Given the description of an element on the screen output the (x, y) to click on. 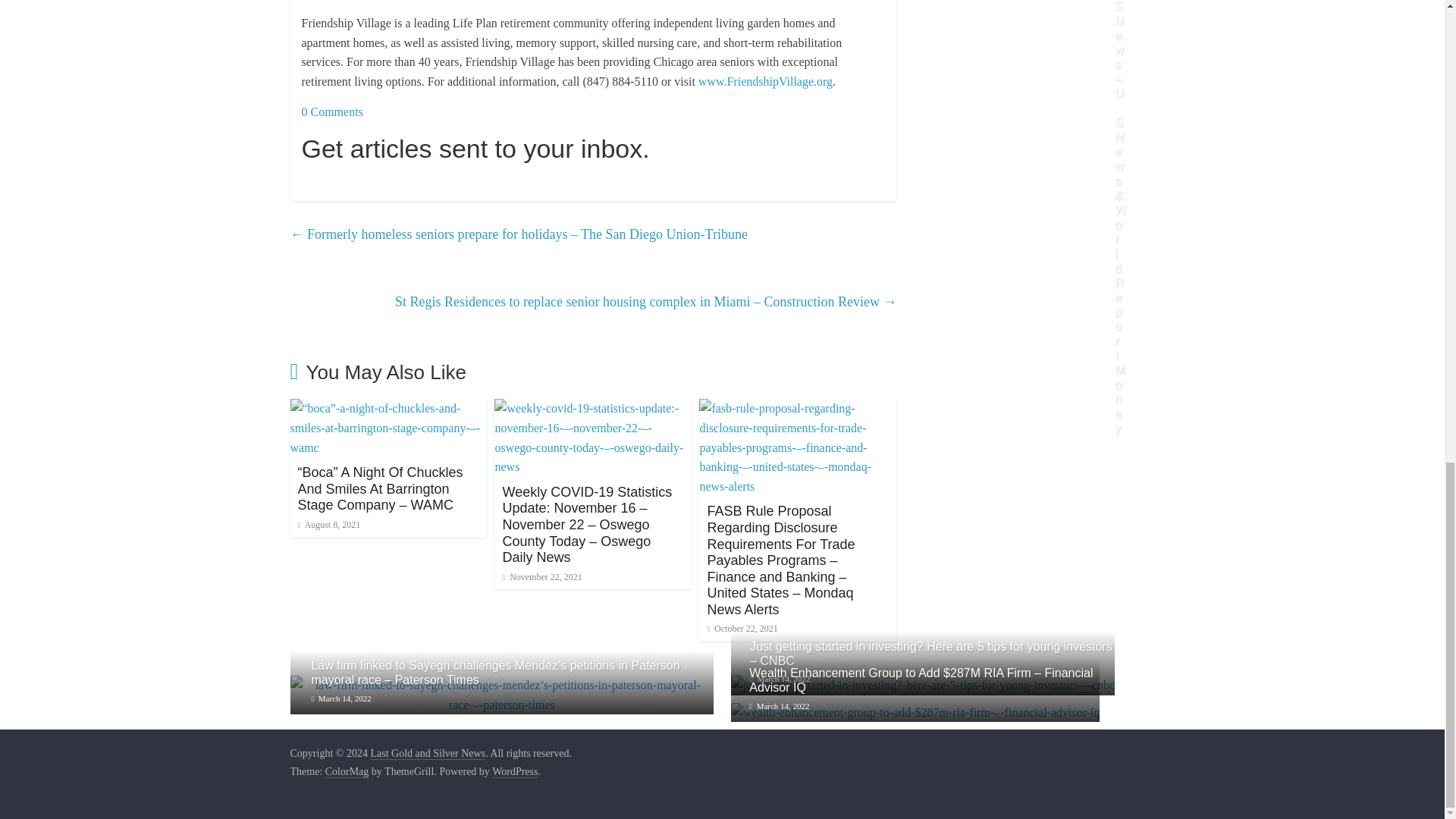
August 8, 2021 (328, 524)
November 22, 2021 (541, 576)
October 22, 2021 (741, 628)
www.FriendshipVillage.org (765, 81)
0 Comments (331, 111)
